Given the description of an element on the screen output the (x, y) to click on. 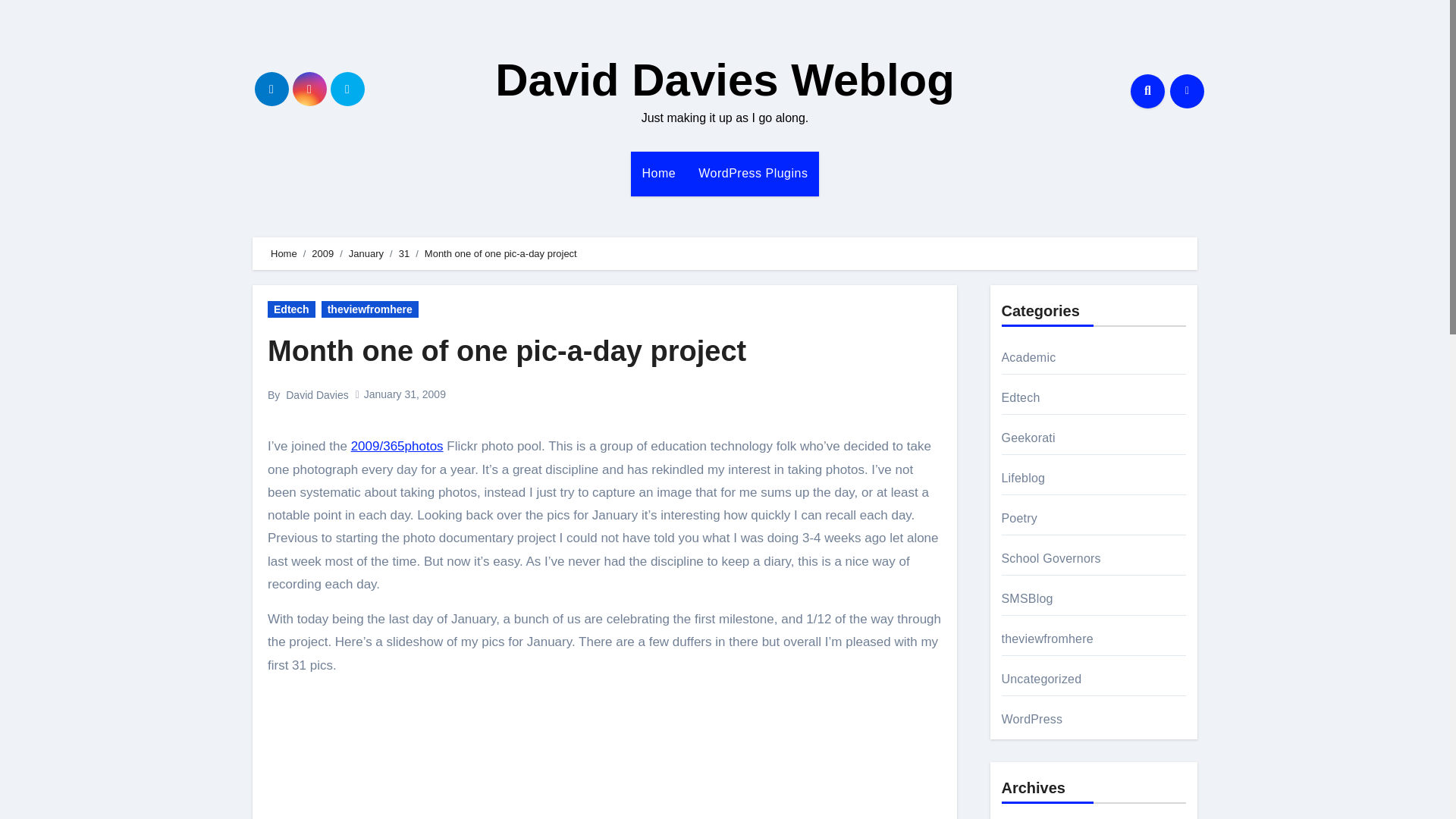
January 31, 2009 (404, 394)
31 (403, 253)
Month one of one pic-a-day project (506, 350)
WordPress Plugins (752, 173)
2009 (322, 253)
David Davies Weblog (725, 79)
Permalink to: Month one of one pic-a-day project (506, 350)
David Davies (316, 395)
Home (658, 173)
theviewfromhere (370, 309)
